Given the description of an element on the screen output the (x, y) to click on. 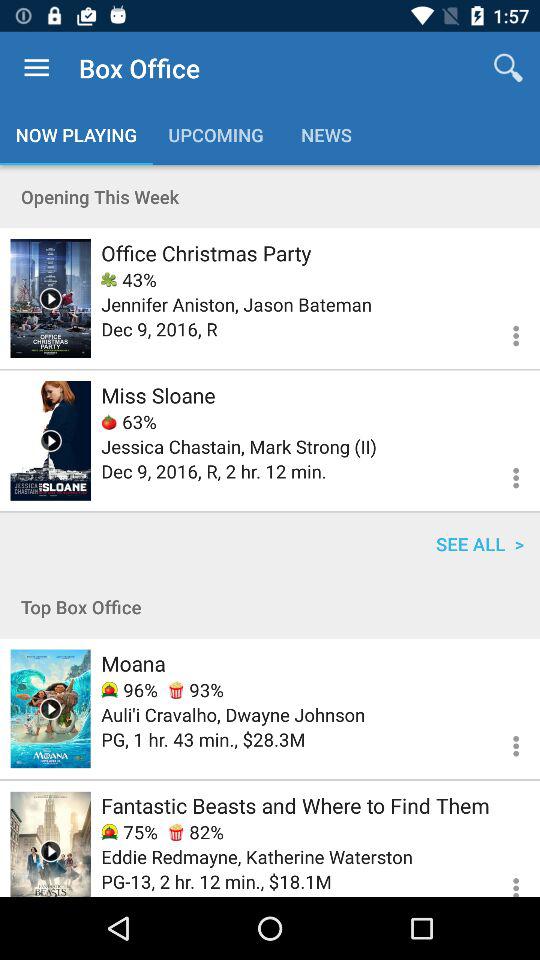
launch item to the right of moana icon (195, 689)
